Given the description of an element on the screen output the (x, y) to click on. 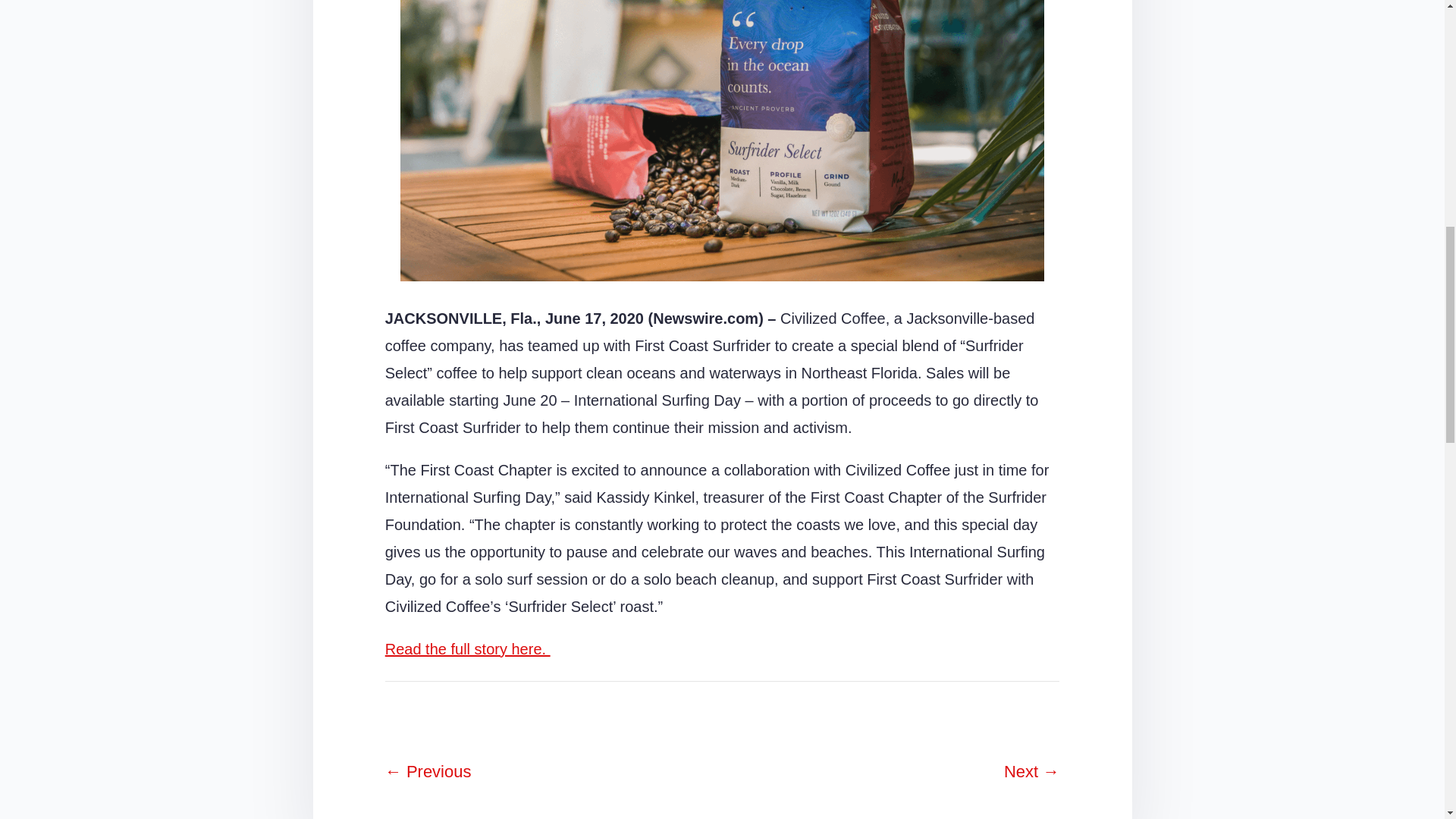
Read the full story here.  (467, 648)
